Given the description of an element on the screen output the (x, y) to click on. 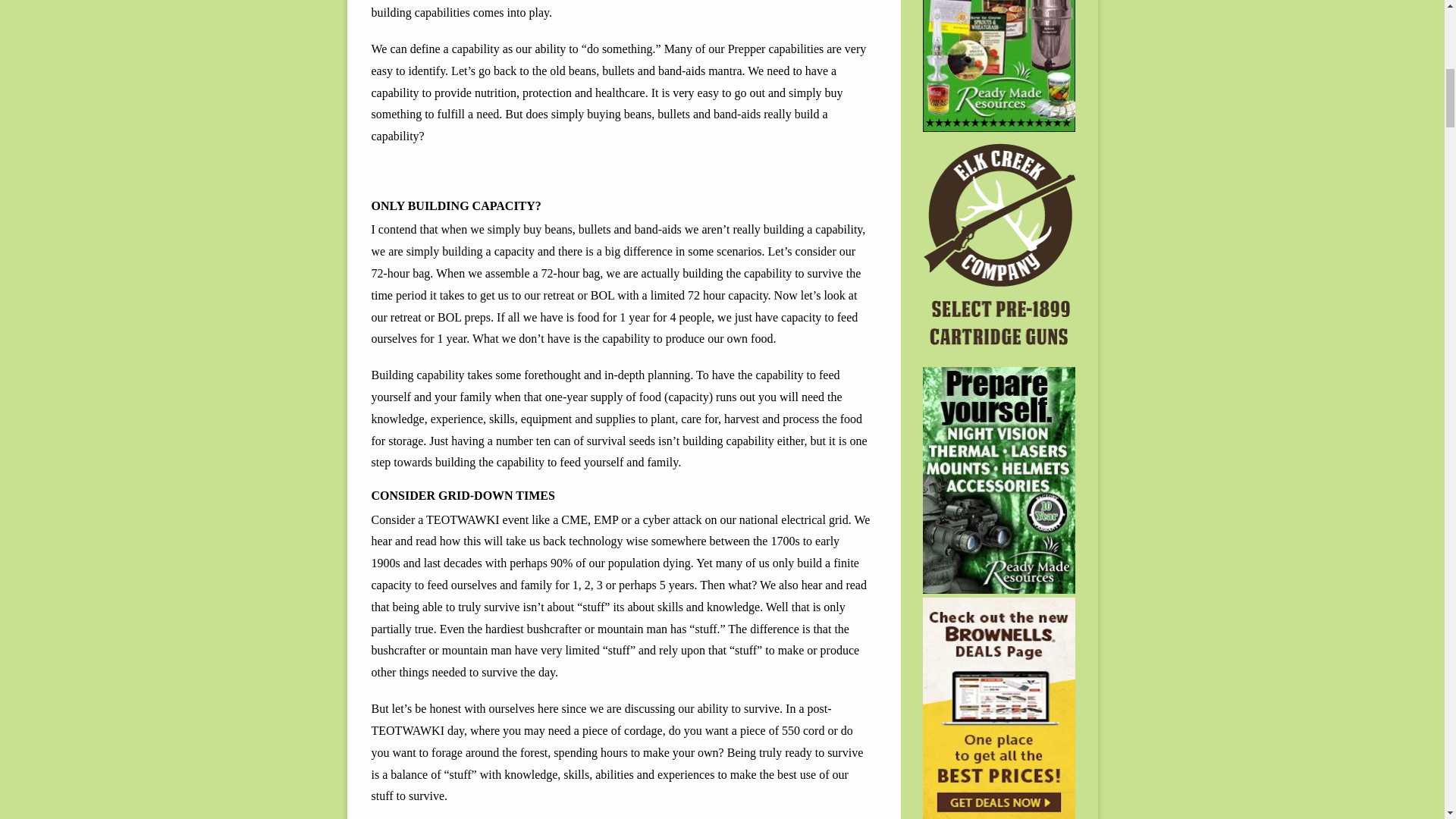
Ready Made Resources (999, 65)
